Given the description of an element on the screen output the (x, y) to click on. 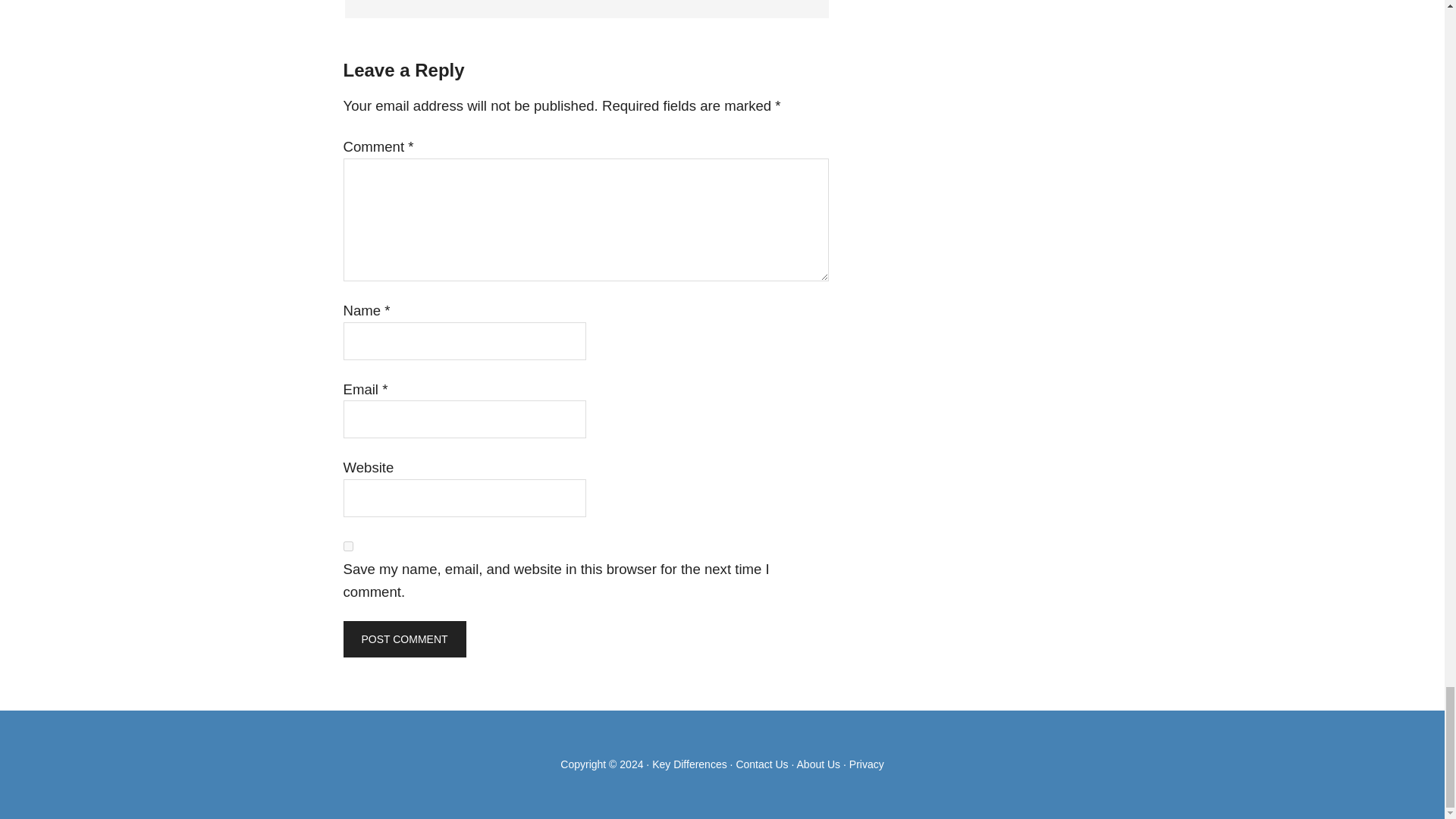
About Us (818, 764)
Post Comment (403, 638)
Privacy (865, 764)
Contact Us (761, 764)
Post Comment (403, 638)
yes (347, 546)
